Given the description of an element on the screen output the (x, y) to click on. 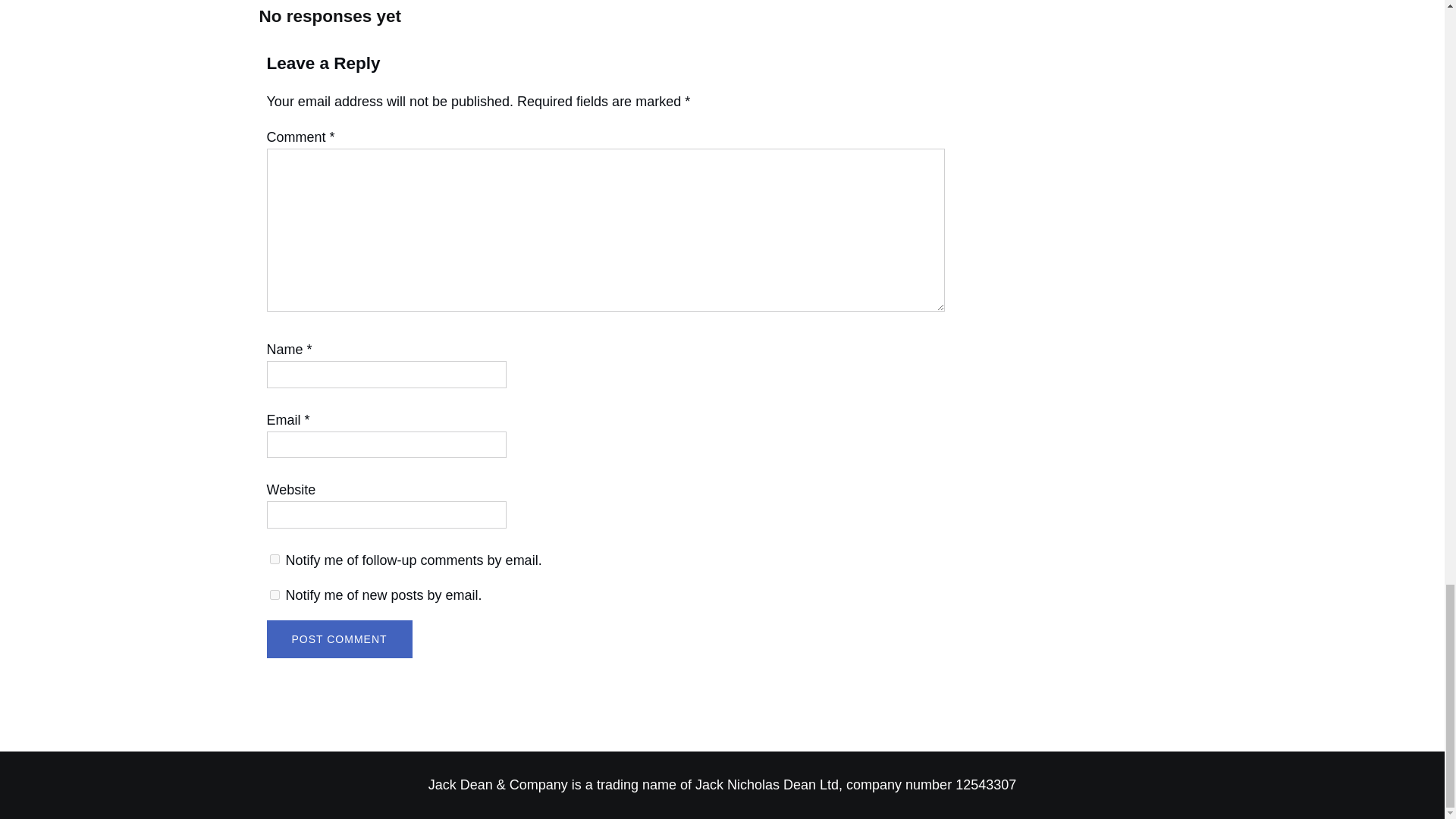
Post Comment (339, 638)
subscribe (274, 594)
Post Comment (339, 638)
subscribe (274, 559)
